Given the description of an element on the screen output the (x, y) to click on. 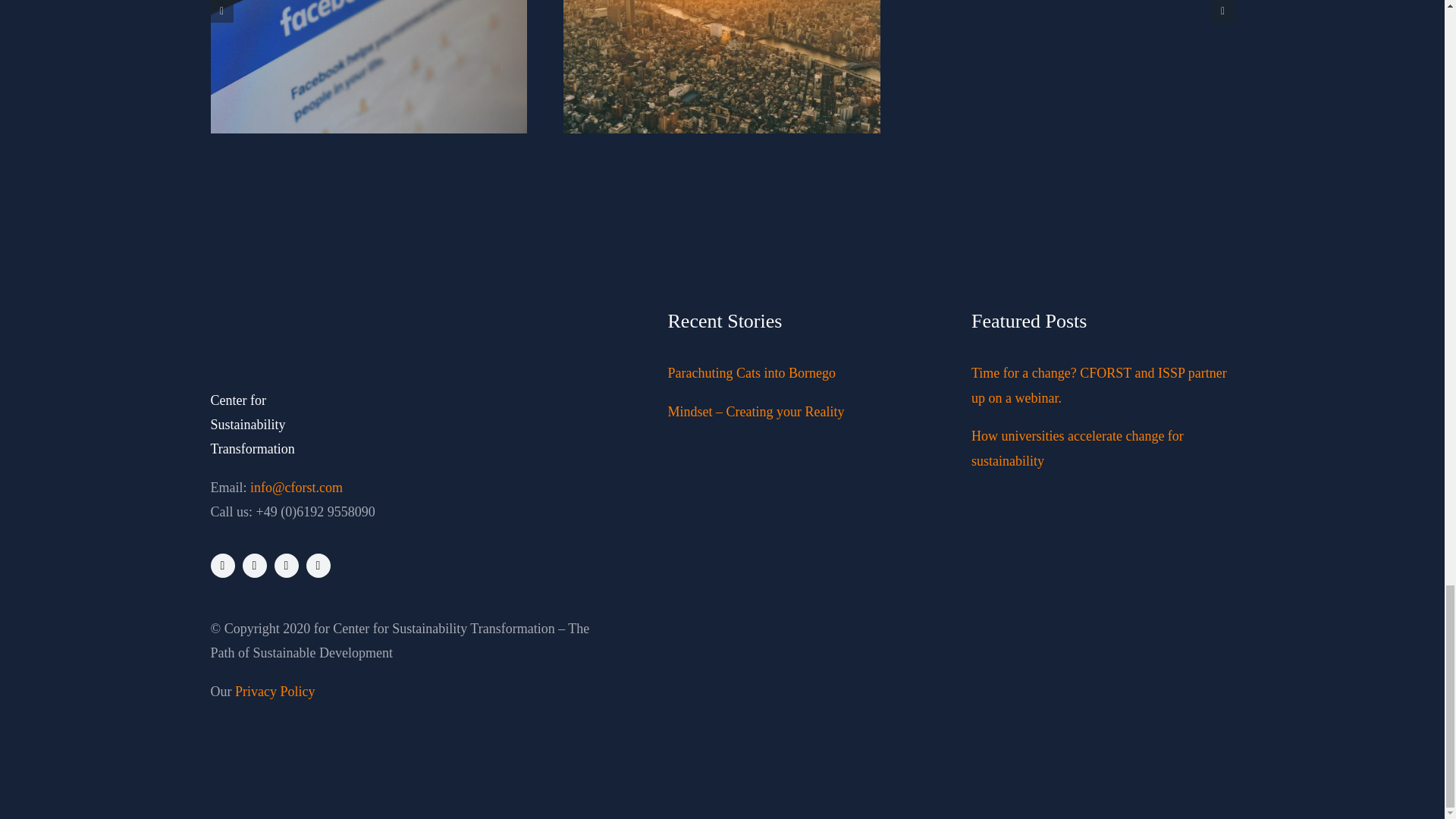
Parachuting Cats into Bornego (750, 372)
How universities accelerate change for sustainability (1077, 447)
LinkedIn (286, 565)
Facebook (222, 565)
YouTube (317, 565)
sygnet-footer (239, 328)
X (254, 565)
Time for a change? CFORST and ISSP partner up on a webinar. (1099, 384)
